Given the description of an element on the screen output the (x, y) to click on. 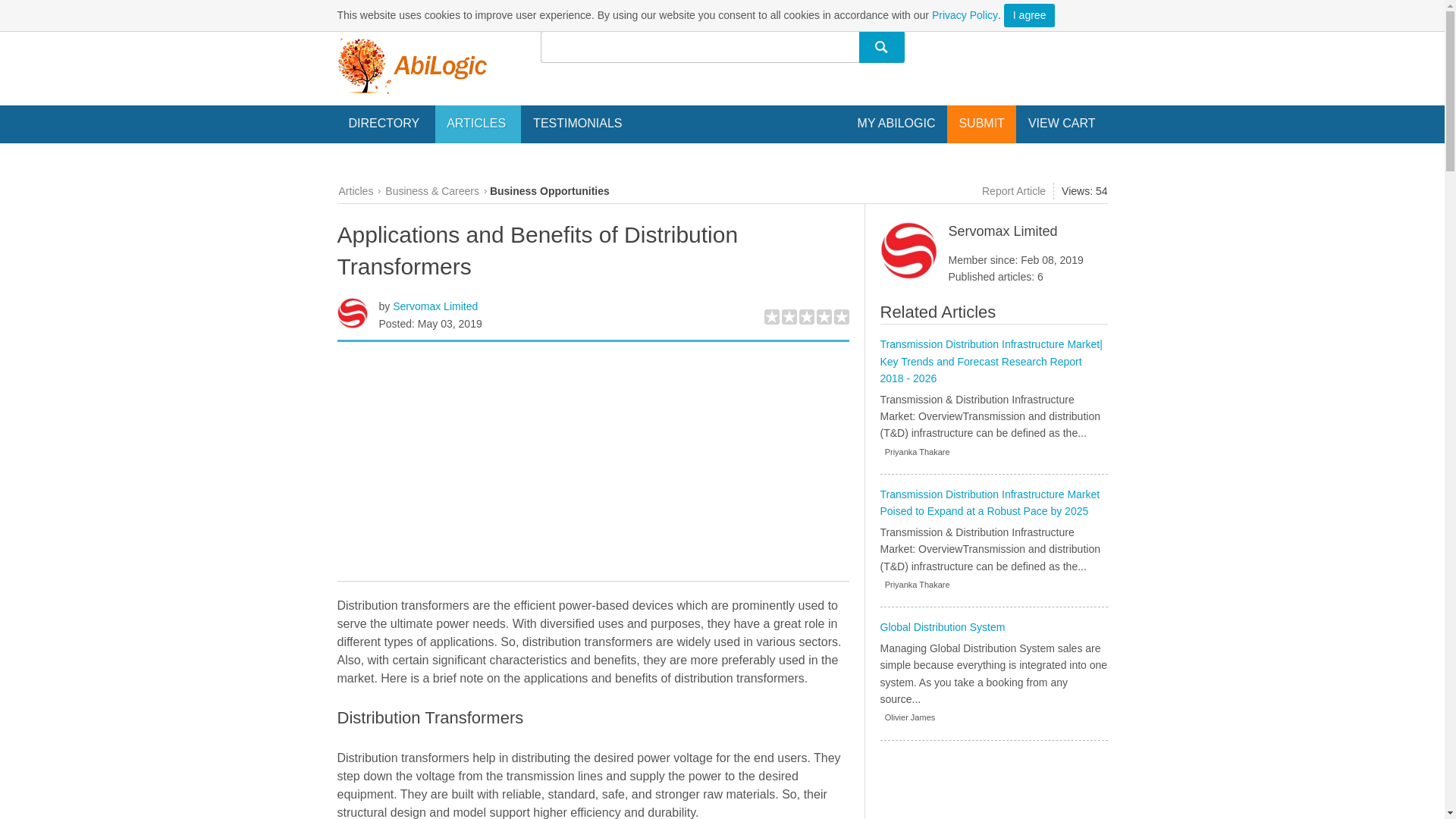
Privacy Policy (964, 15)
TESTIMONIALS (577, 123)
VIEW CART (1061, 123)
ARTICLES (478, 123)
Shopping cart (1061, 123)
Global Distribution System (941, 626)
Articles (354, 191)
Servomax Limited (435, 306)
Submit an Article (980, 123)
SUBMIT (980, 123)
DIRECTORY (384, 123)
Free Article Directory (411, 65)
I agree (1029, 15)
Advertisement (592, 463)
